Given the description of an element on the screen output the (x, y) to click on. 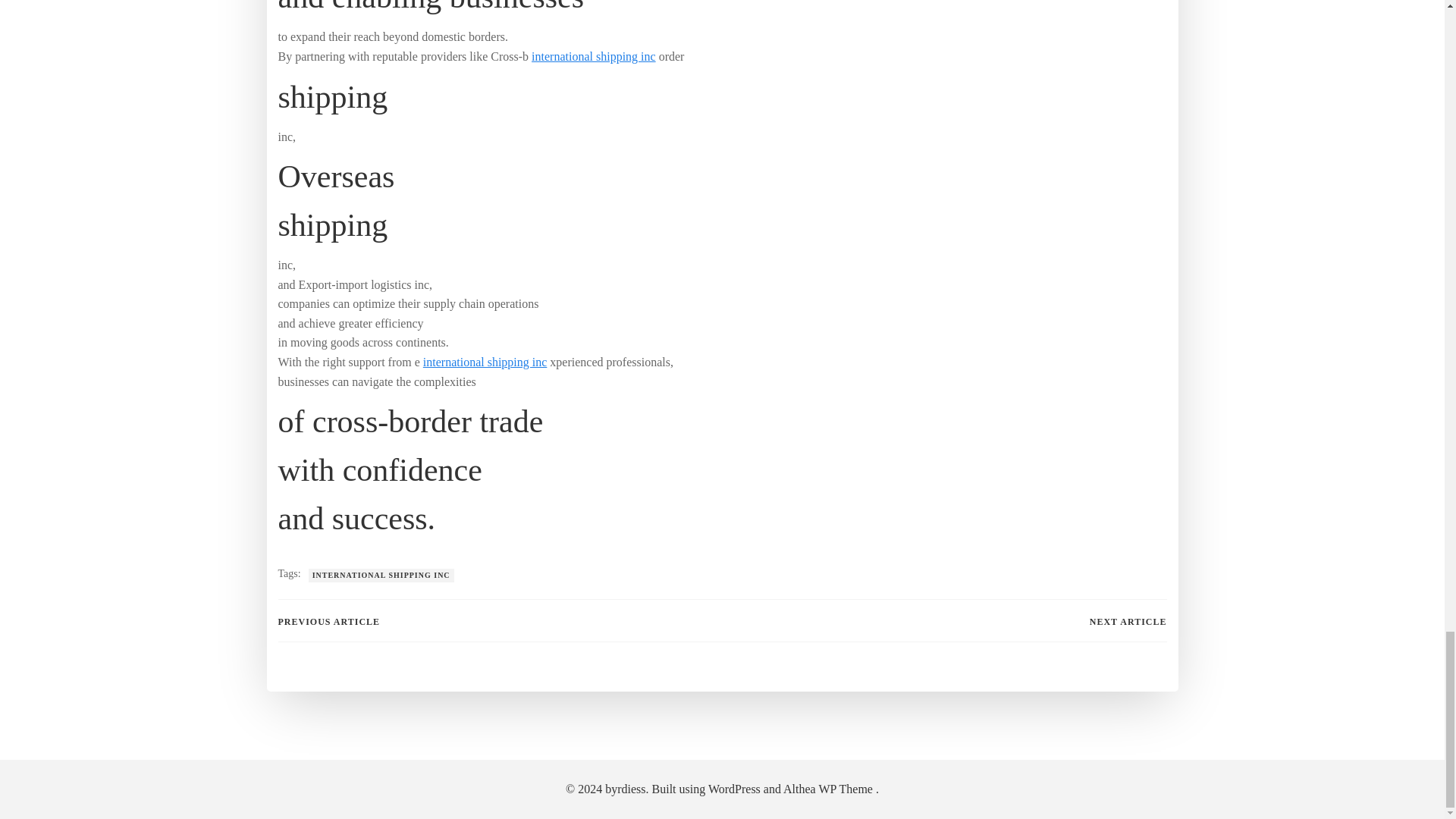
INTERNATIONAL SHIPPING INC (381, 575)
international shipping inc (485, 361)
NEXT ARTICLE (1128, 621)
international shipping inc (593, 56)
PREVIOUS ARTICLE (329, 621)
Tag: international shipping inc (381, 575)
